Given the description of an element on the screen output the (x, y) to click on. 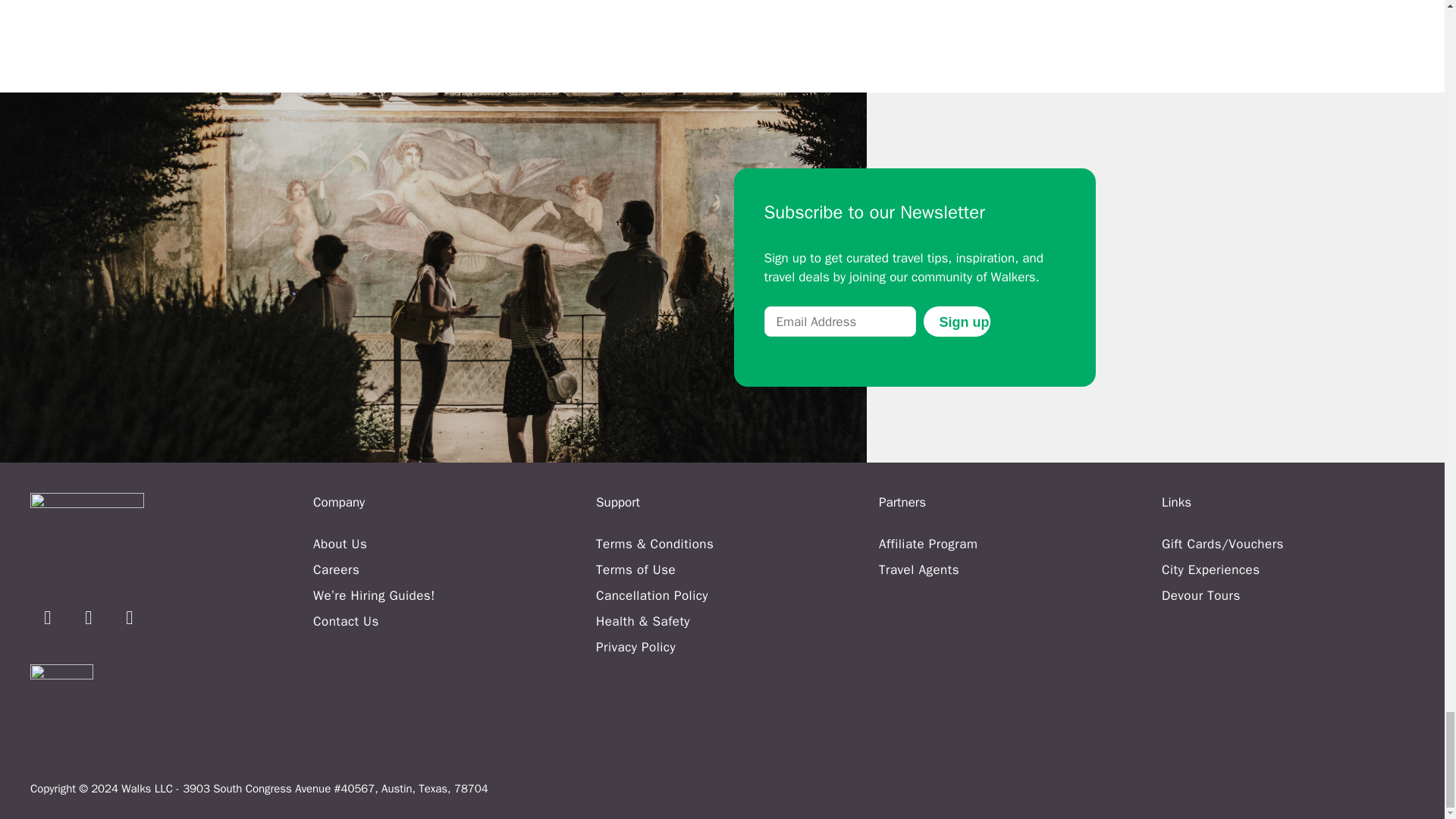
Sign up (956, 321)
Twitter (129, 617)
Instagram (47, 617)
Facebook (88, 617)
